Given the description of an element on the screen output the (x, y) to click on. 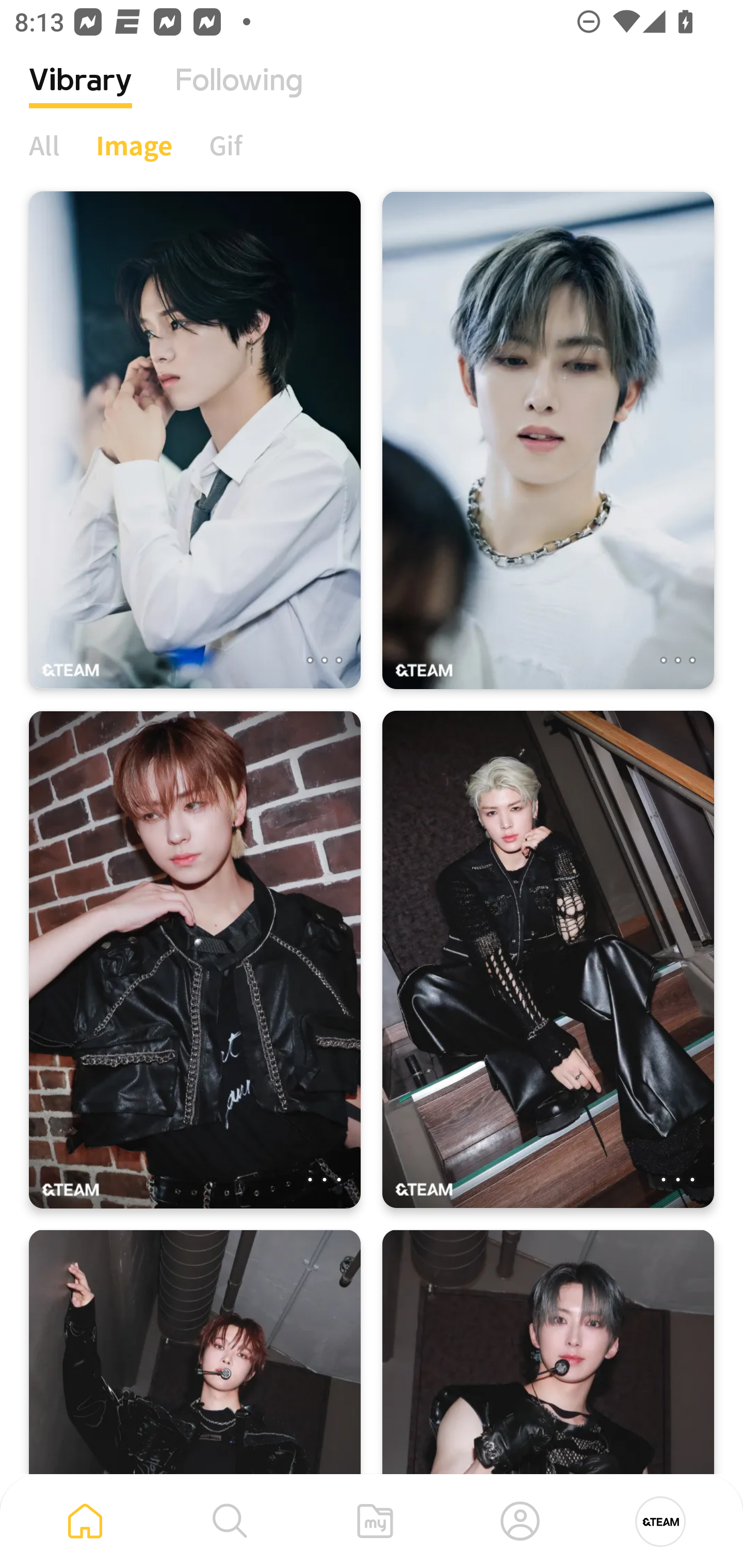
Vibrary (80, 95)
Following (239, 95)
All (44, 145)
Image (134, 145)
Gif (225, 145)
